Given the description of an element on the screen output the (x, y) to click on. 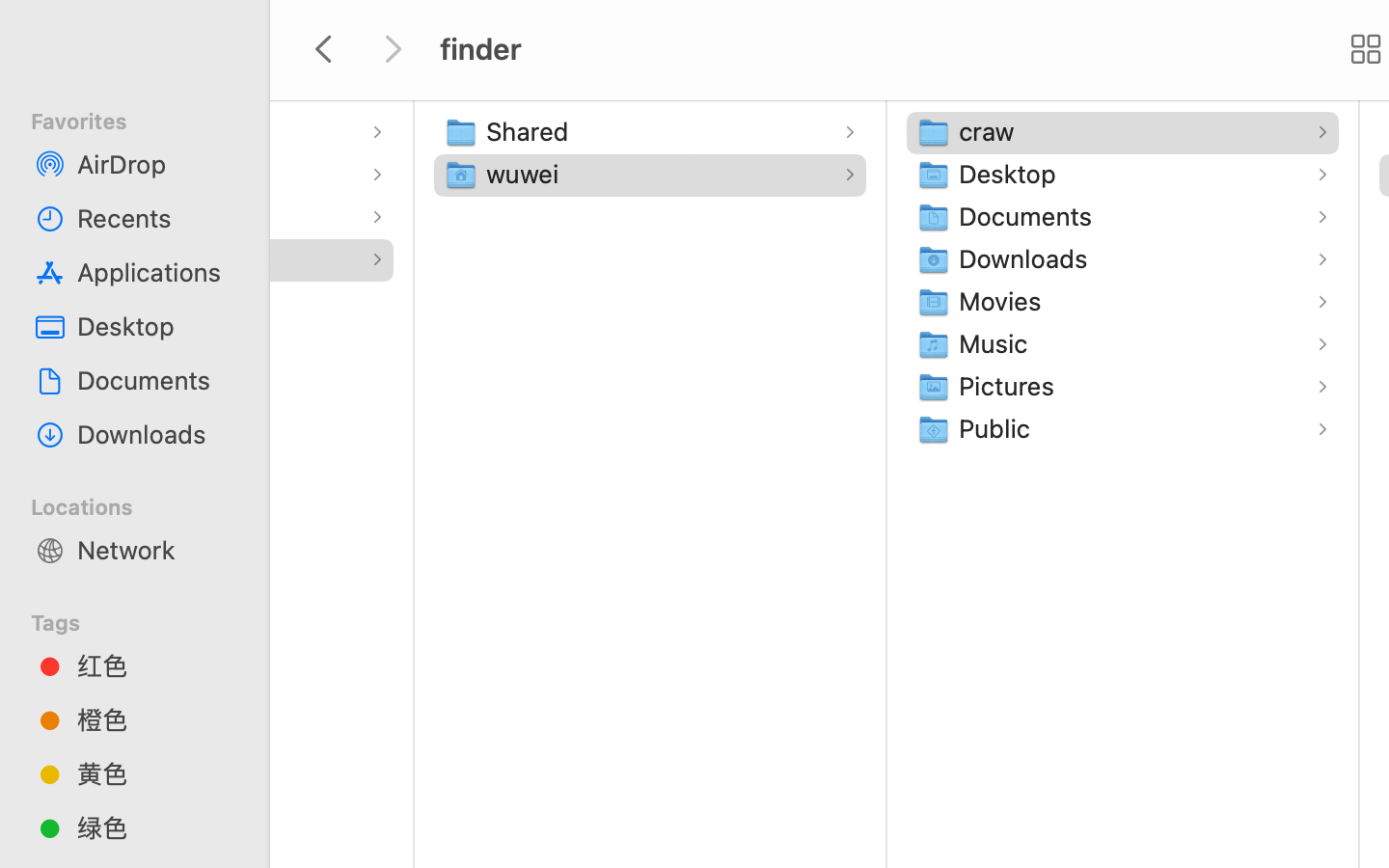
Applications Element type: AXTextField (89, 130)
Favorites Element type: AXStaticText (145, 118)
AirDrop Element type: AXStaticText (155, 163)
Documents Element type: AXStaticText (155, 379)
Desktop Element type: AXStaticText (155, 325)
